Given the description of an element on the screen output the (x, y) to click on. 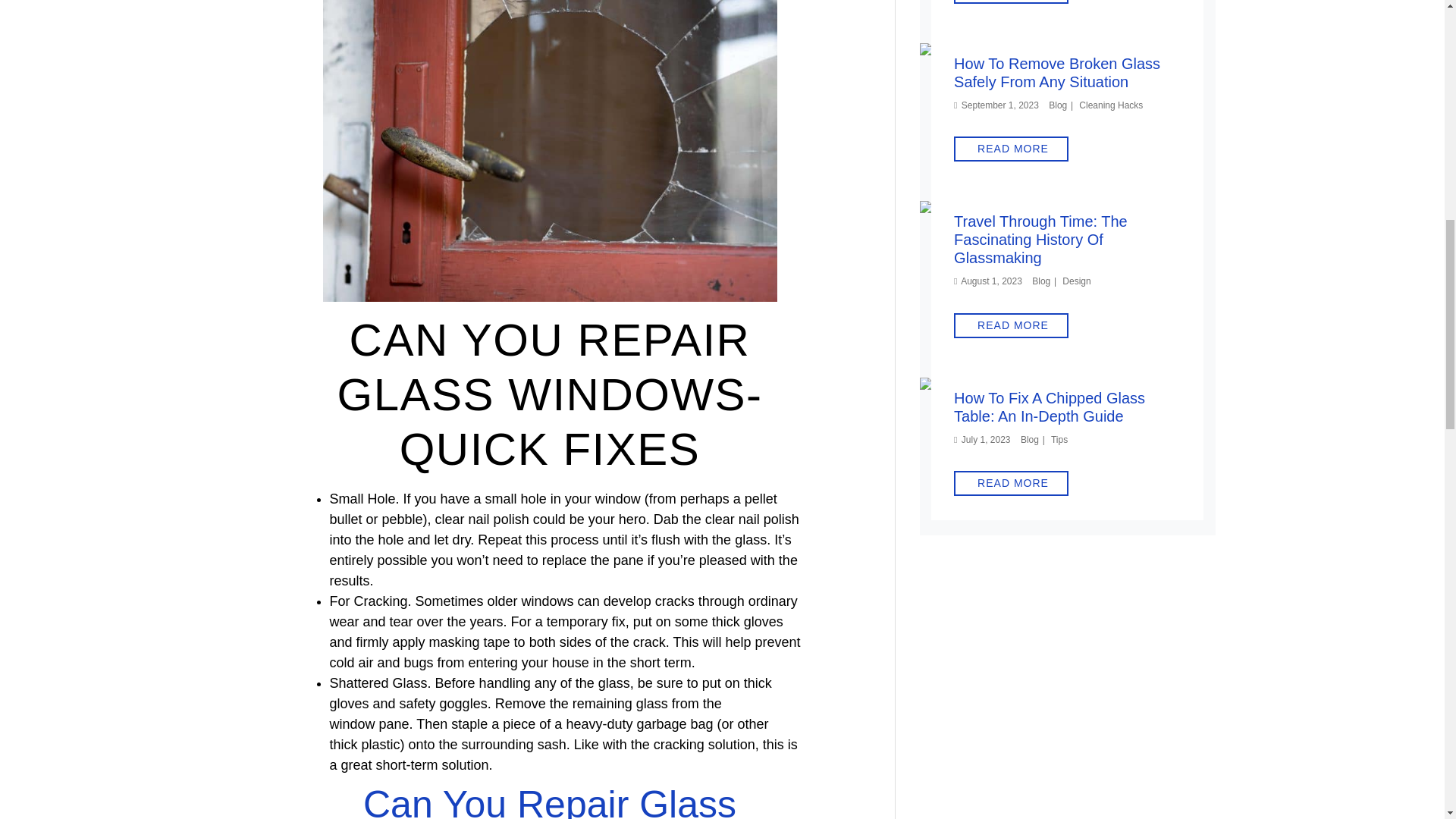
How to Remove Broken Glass Safely from Any Situation (1010, 52)
How to Fix a Chipped Glass Table: An In-Depth Guide (1019, 387)
Travel Through Time: The Fascinating History of Glassmaking (991, 210)
